Given the description of an element on the screen output the (x, y) to click on. 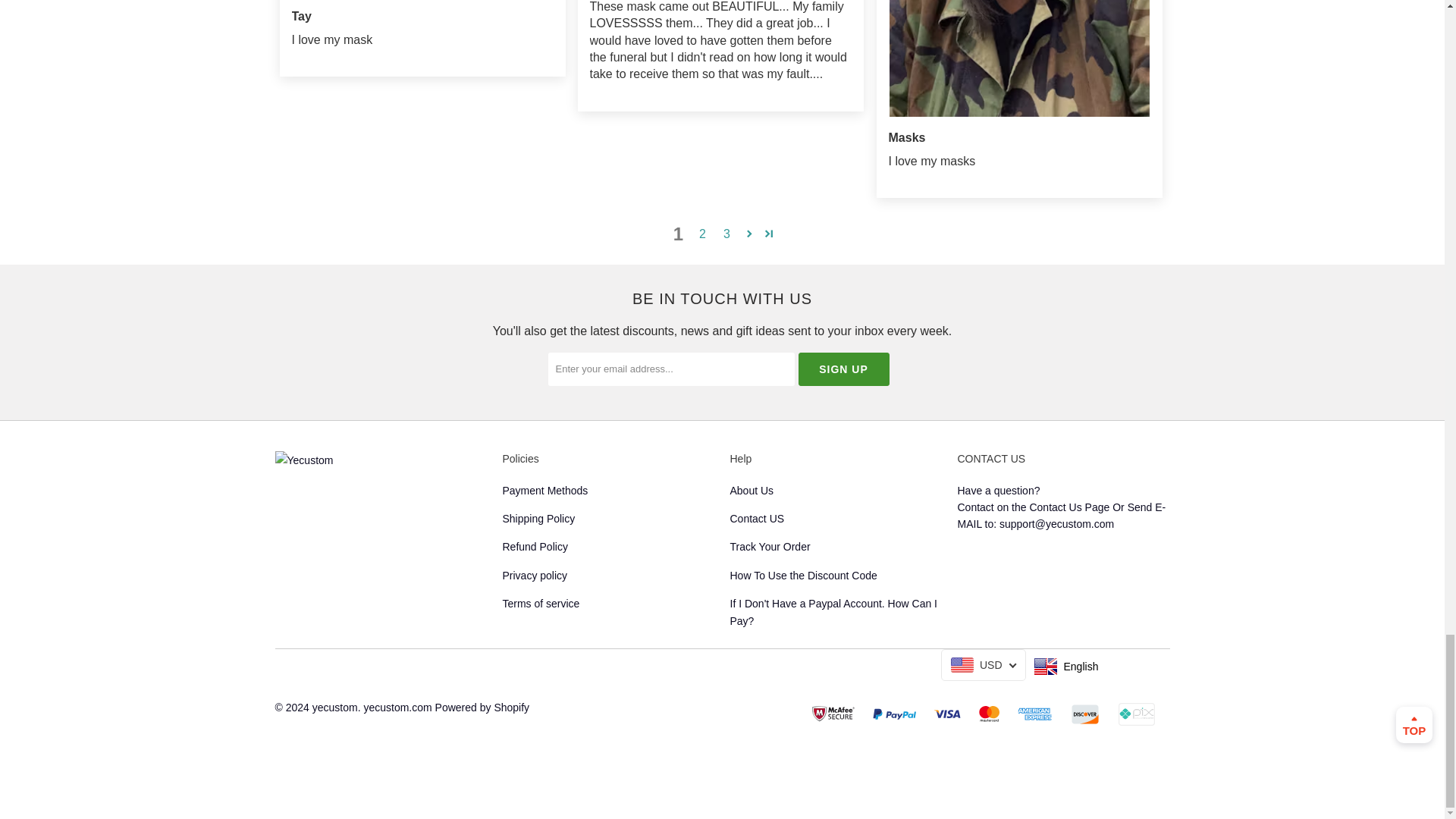
Sign Up (842, 368)
